Given the description of an element on the screen output the (x, y) to click on. 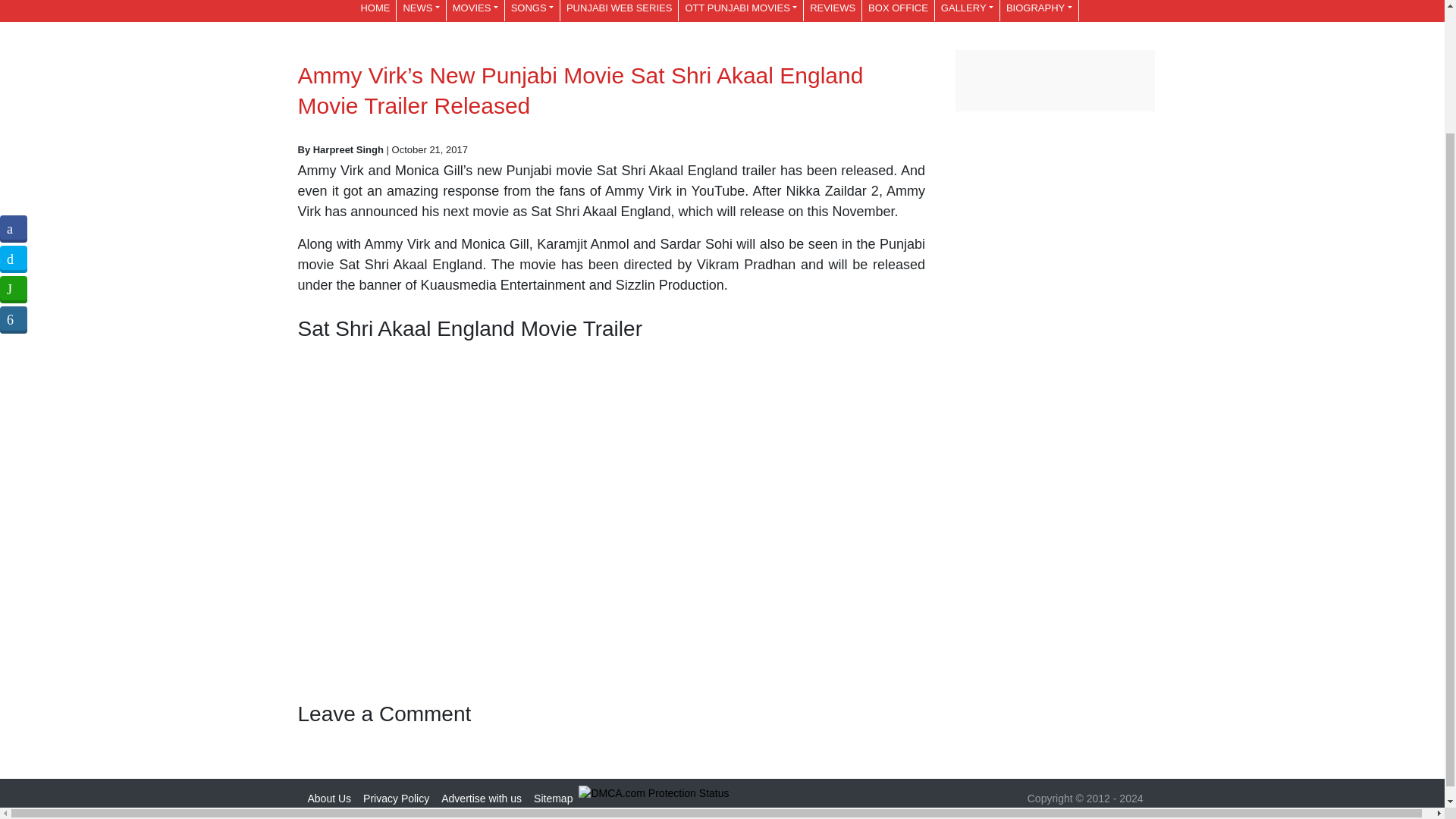
NEWS (420, 11)
PUNJABI WEB SERIES (619, 11)
MOVIES (474, 11)
REVIEWS (832, 11)
DMCA.com Protection Status (653, 792)
BIOGRAPHY (1039, 11)
OTT PUNJABI MOVIES (740, 11)
BOX OFFICE (897, 11)
HOME (374, 11)
GALLERY (966, 11)
SONGS (532, 11)
